Given the description of an element on the screen output the (x, y) to click on. 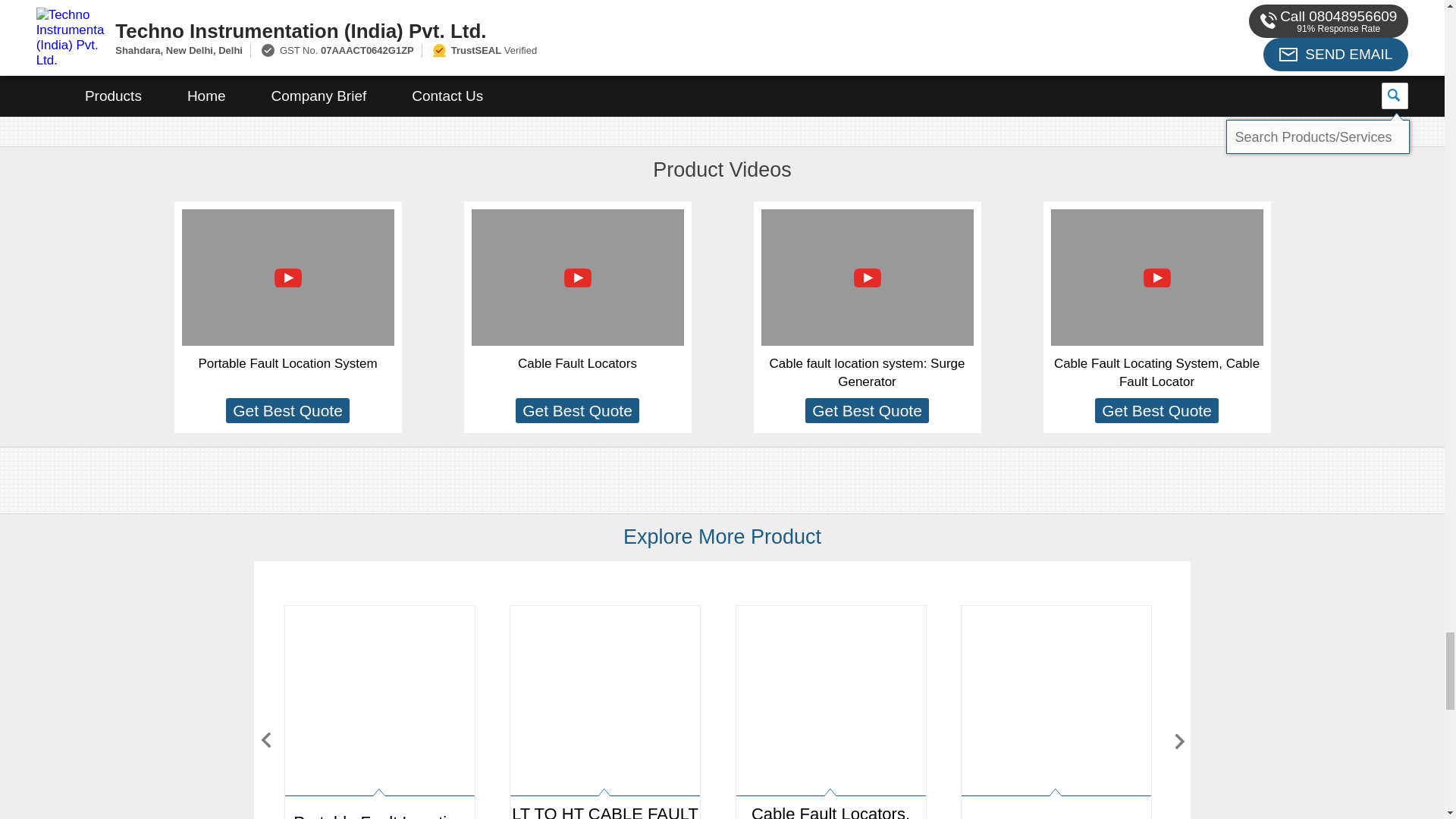
Cable Fault Locating System, Cable Fault Locator (1156, 372)
Cable fault location system: Surge Generator (867, 372)
Portable Fault Location System (379, 712)
Cable Fault Locators (577, 363)
Portable Fault Location System (287, 363)
